Given the description of an element on the screen output the (x, y) to click on. 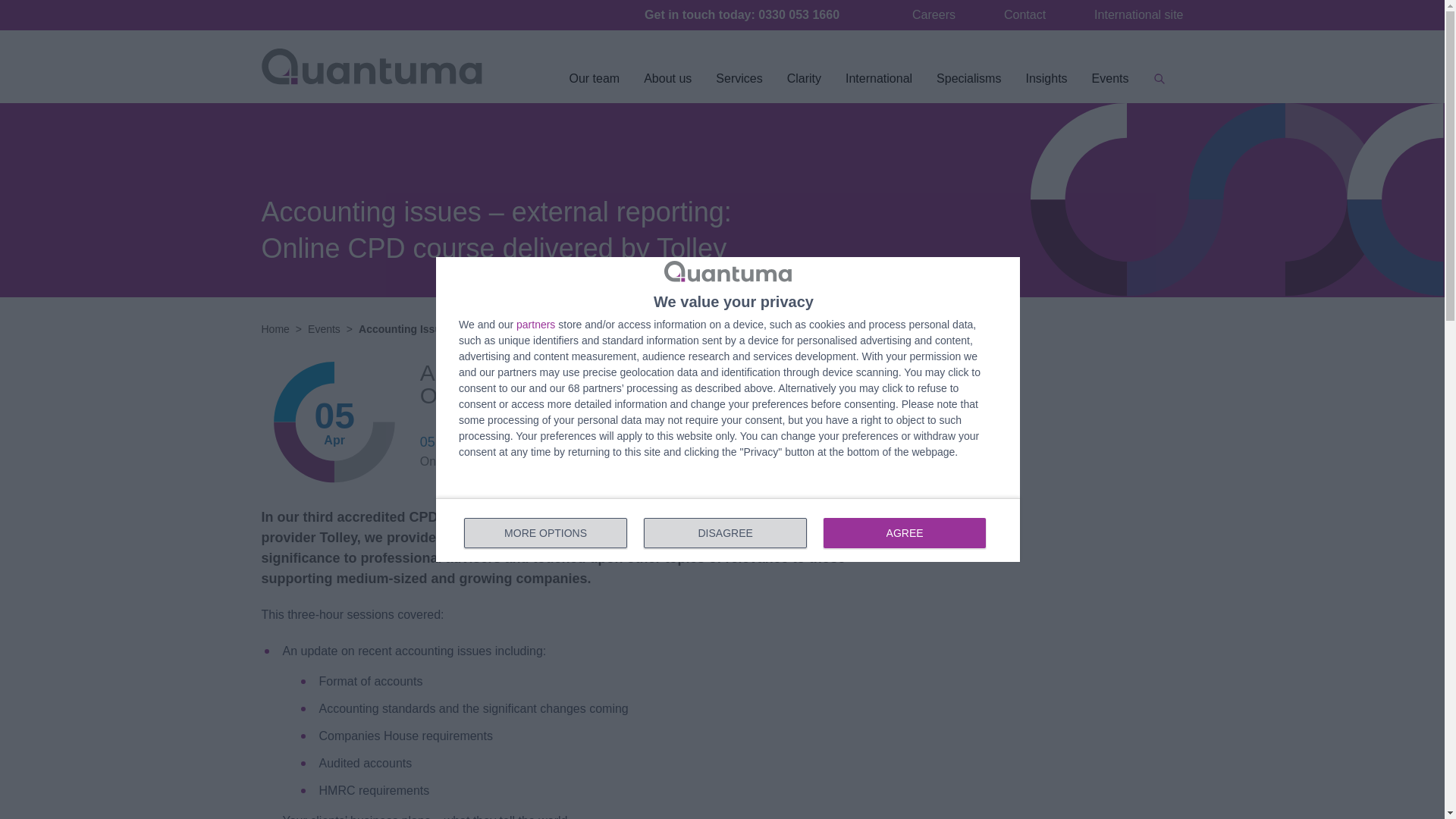
Our team (593, 84)
AGREE (904, 532)
International (878, 84)
Specialisms (968, 84)
Careers (933, 14)
Insights (1045, 84)
Events (1110, 84)
Contact (727, 529)
